Given the description of an element on the screen output the (x, y) to click on. 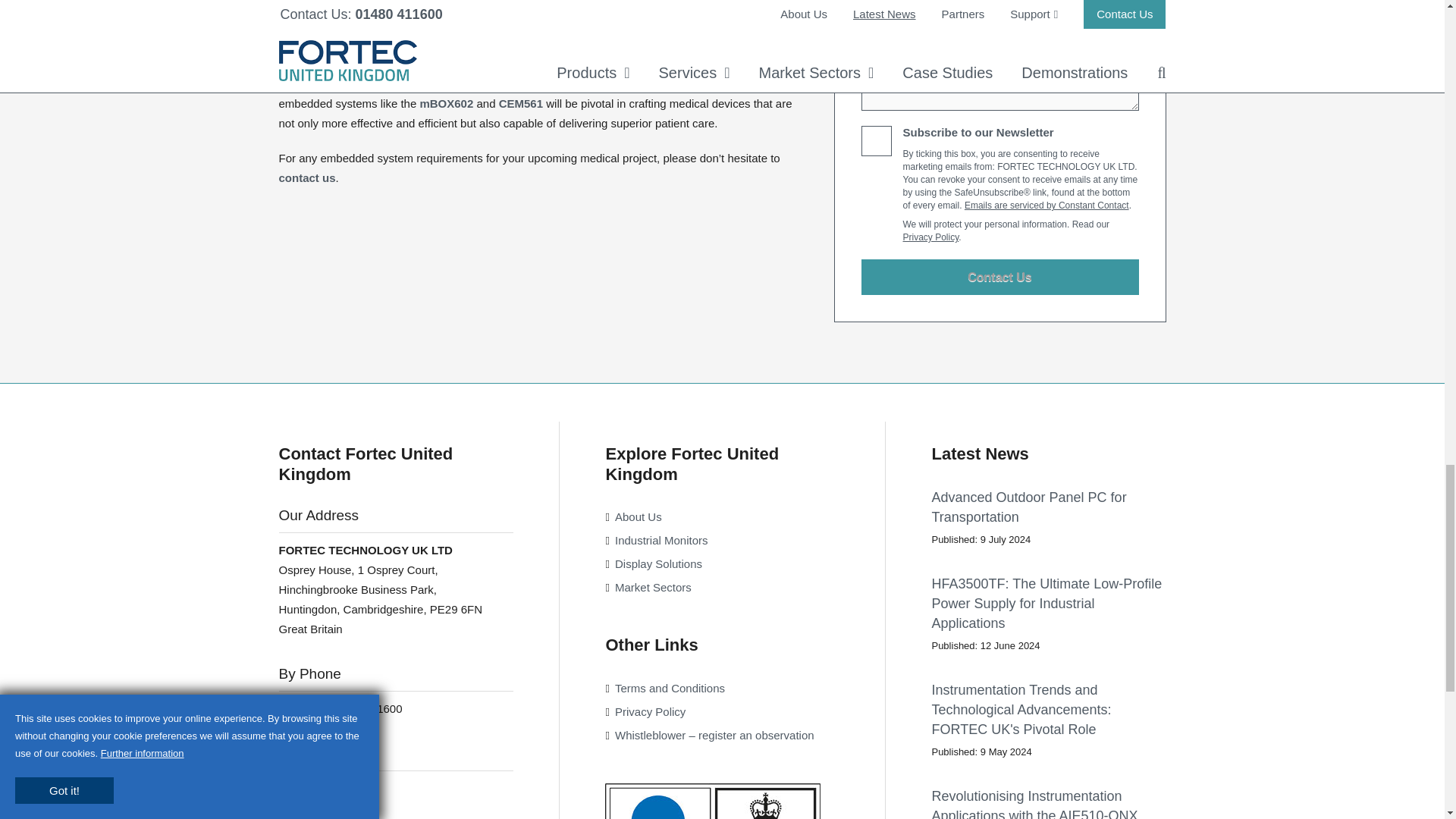
1 (876, 141)
